Given the description of an element on the screen output the (x, y) to click on. 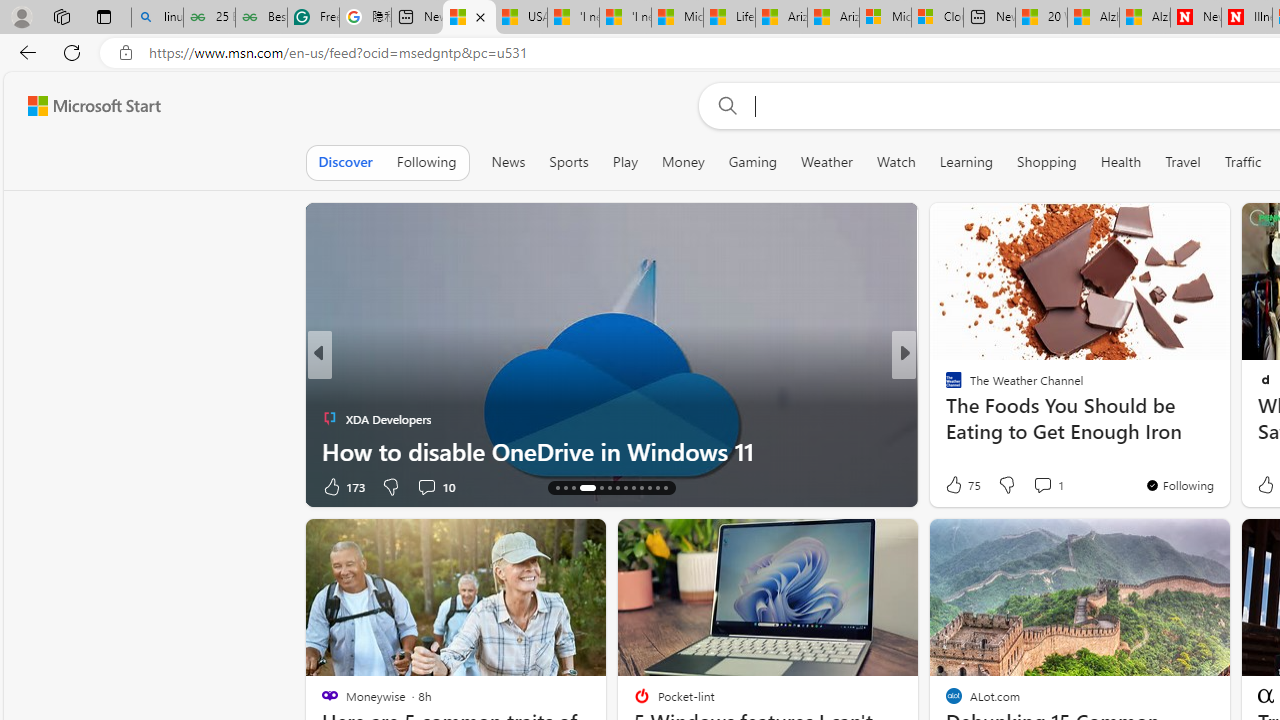
View comments 9 Comment (1048, 486)
AutomationID: tab-21 (624, 487)
Best SSL Certificates Provider in India - GeeksforGeeks (260, 17)
Champagne Living (944, 386)
75 Like (961, 484)
Free AI Writing Assistance for Students | Grammarly (313, 17)
